Given the description of an element on the screen output the (x, y) to click on. 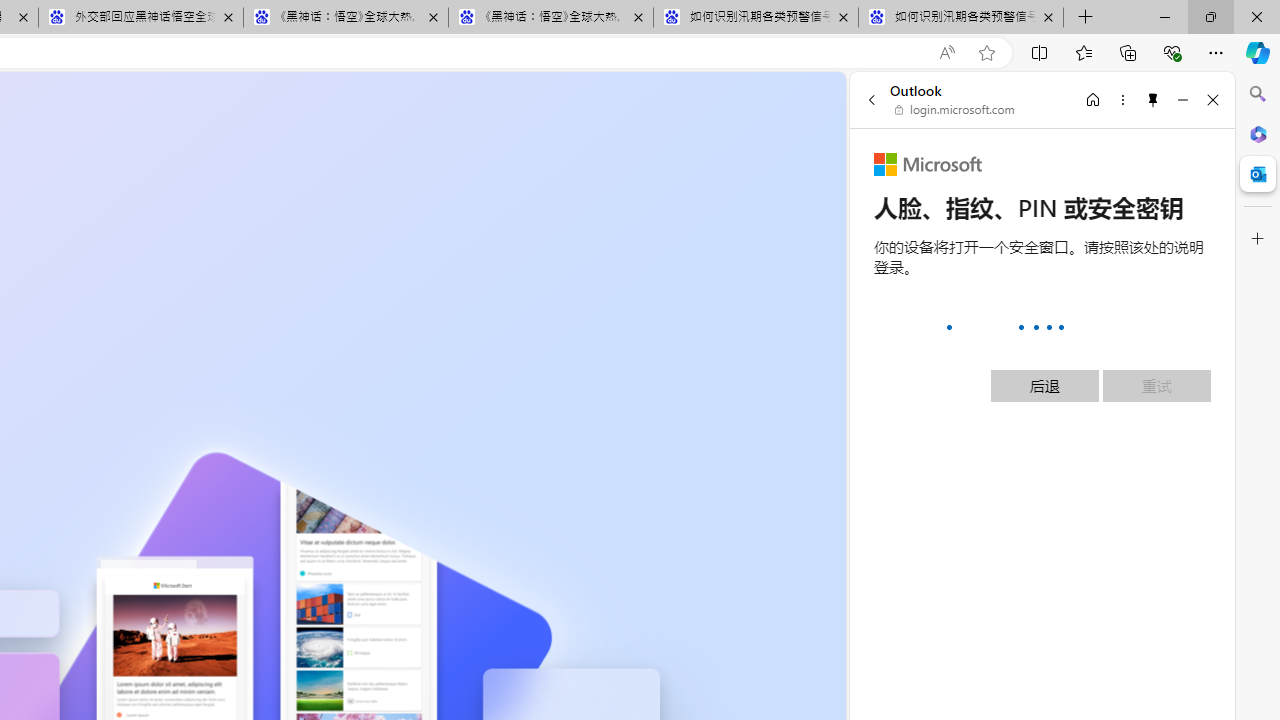
login.microsoft.com (955, 110)
